Given the description of an element on the screen output the (x, y) to click on. 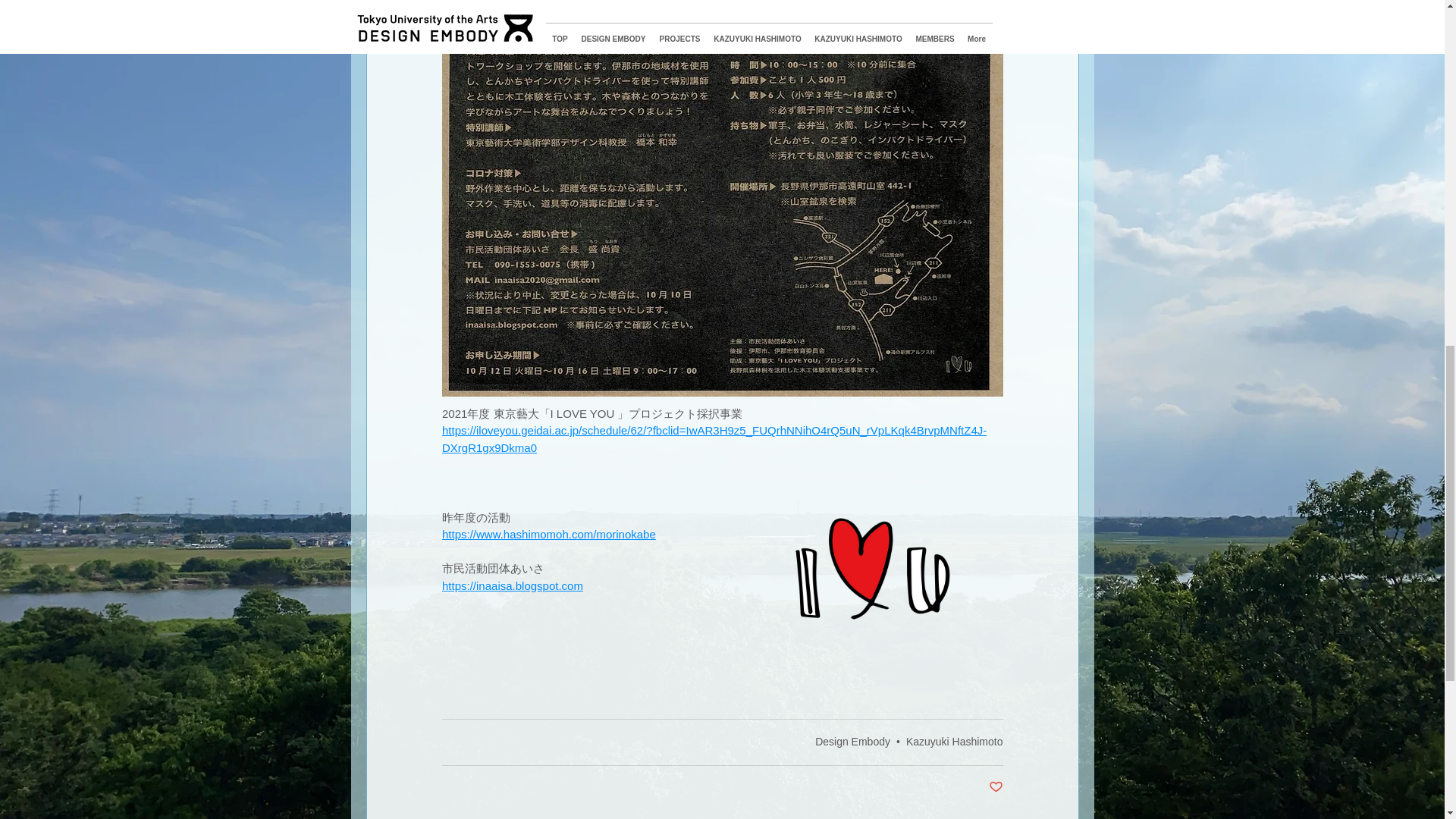
Kazuyuki Hashimoto (954, 741)
Post not marked as liked (995, 787)
Design Embody (852, 741)
